Given the description of an element on the screen output the (x, y) to click on. 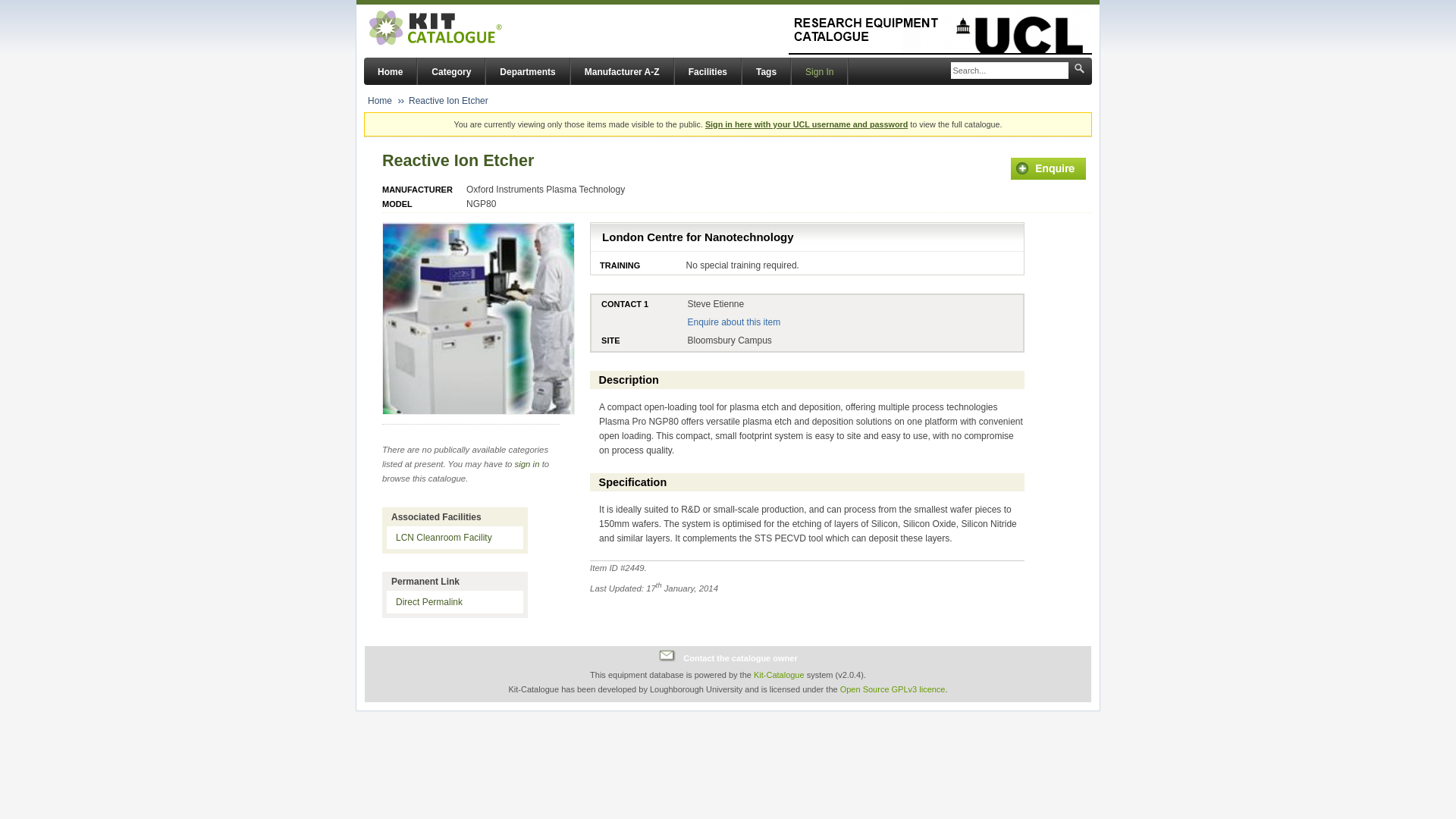
Departments (527, 71)
Search... (1008, 70)
Reactive Ion Etcher (448, 100)
Sign In (819, 71)
Tags (766, 71)
sign in (527, 463)
Open Source GPLv3 licence (892, 688)
Facilities (708, 71)
Manufacturer A-Z (621, 71)
Category (450, 71)
